Given the description of an element on the screen output the (x, y) to click on. 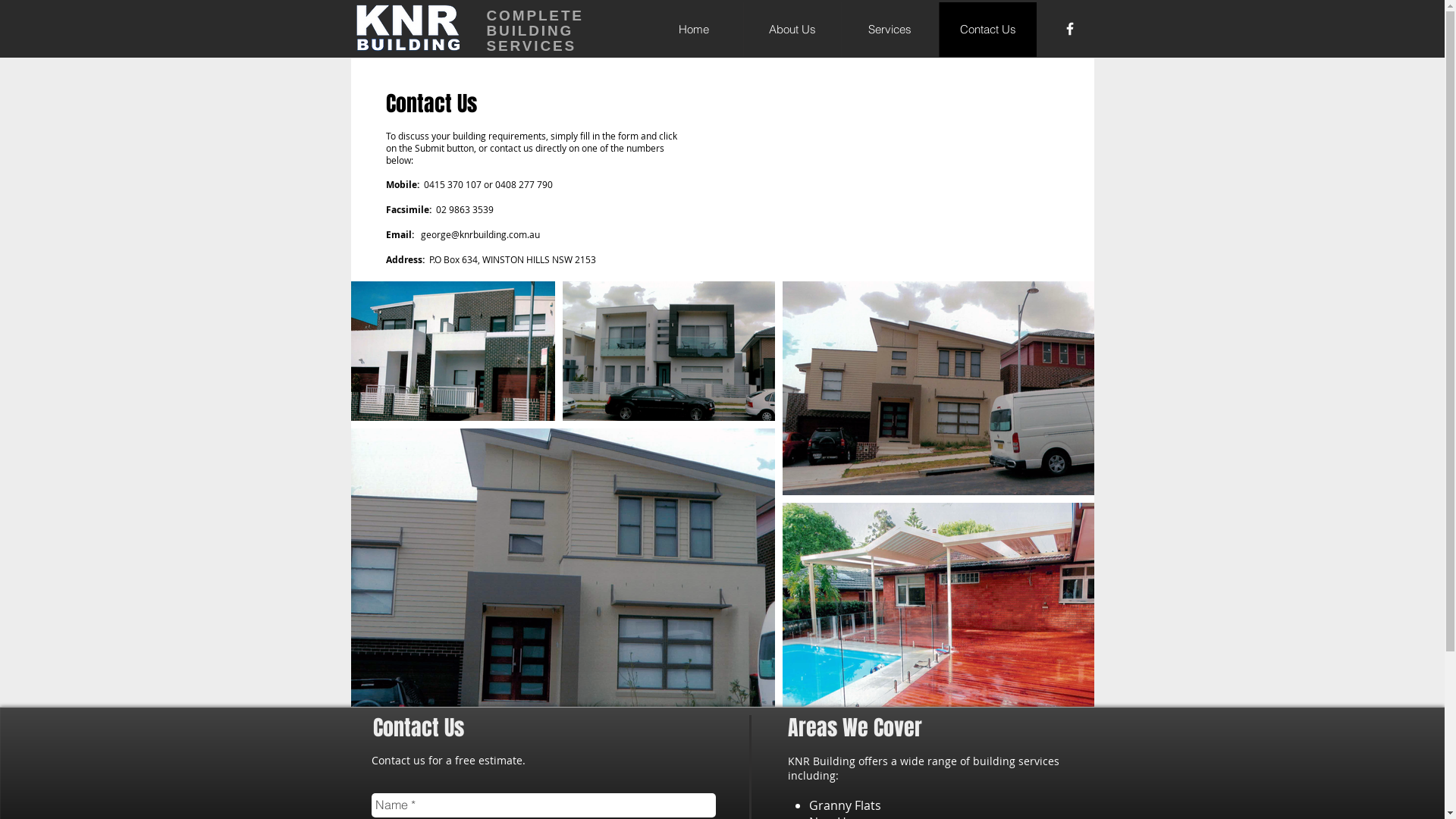
Services Element type: text (889, 29)
george@knrbuilding.com.au Element type: text (479, 234)
Home Element type: text (693, 29)
Contact Us Element type: text (987, 29)
KRN_logo.png Element type: hover (407, 27)
Granny Flats Element type: text (845, 805)
About Us Element type: text (791, 29)
